Given the description of an element on the screen output the (x, y) to click on. 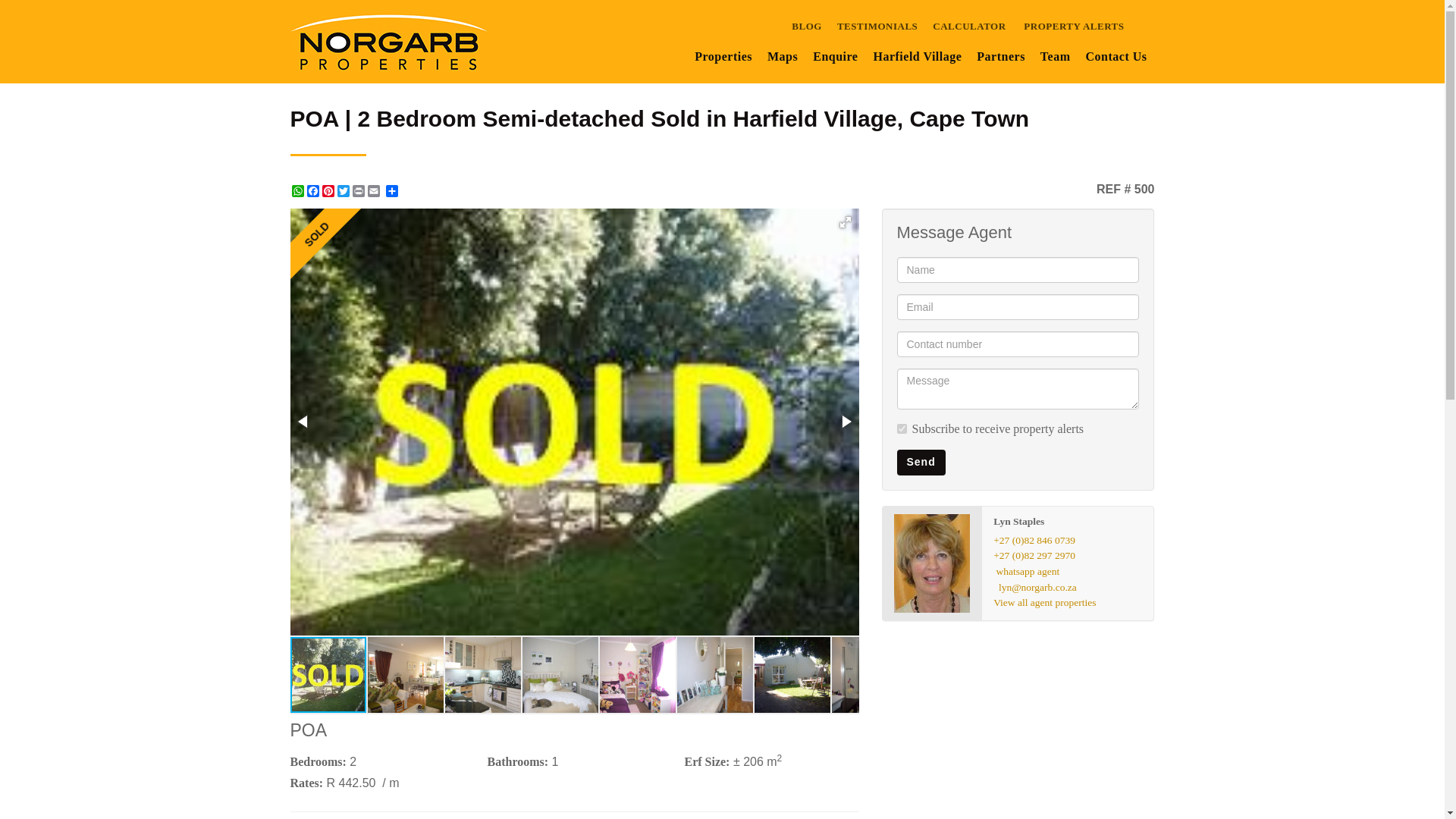
Properties (723, 56)
Enquire (834, 56)
on (900, 429)
Partners (1000, 56)
Maps (782, 56)
Harfield Village (916, 56)
Norgarb Properties, Estate Agency Logo (387, 41)
